Given the description of an element on the screen output the (x, y) to click on. 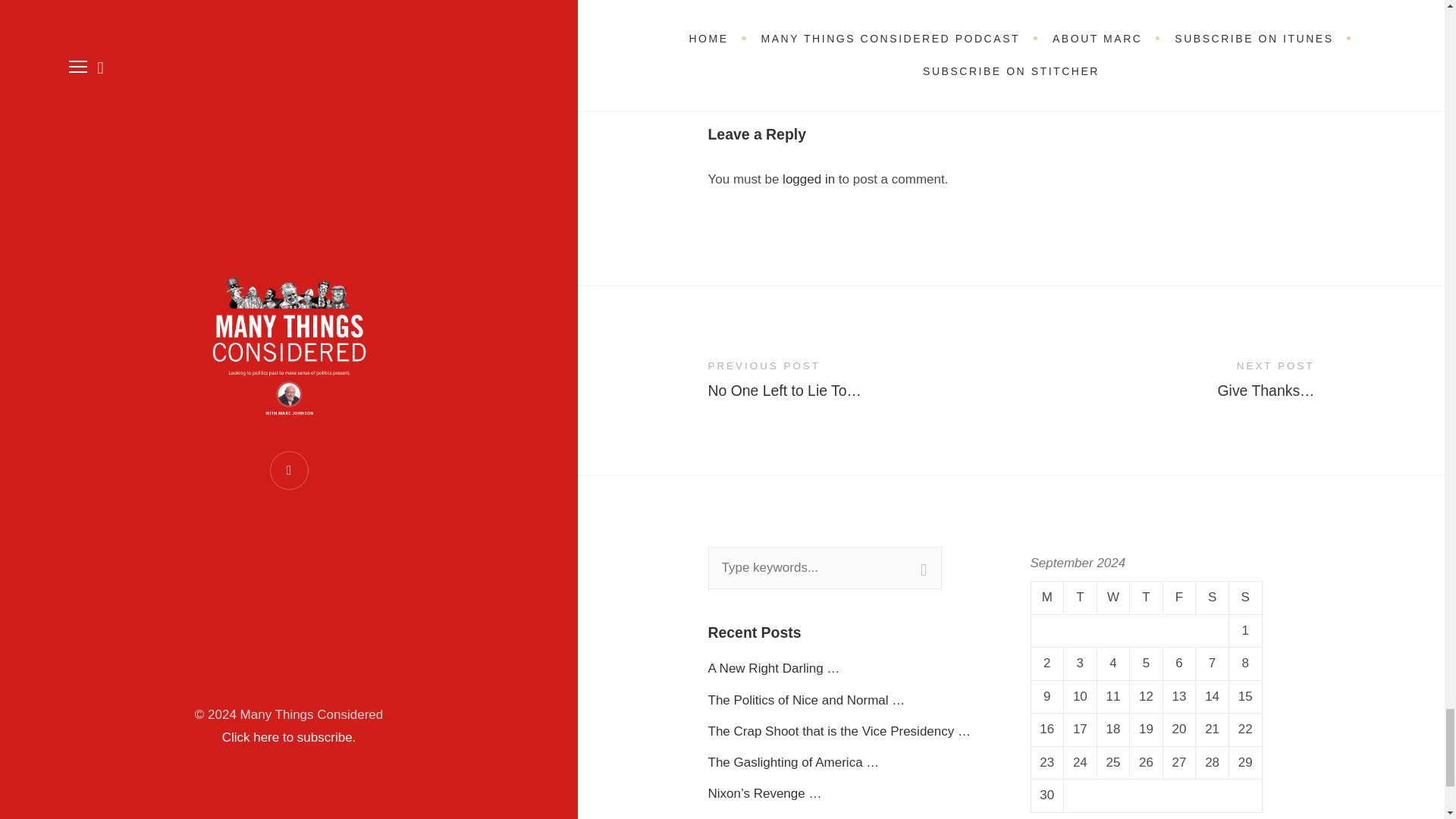
Search for: (824, 567)
Monday (1047, 597)
Tuesday (1080, 597)
